Given the description of an element on the screen output the (x, y) to click on. 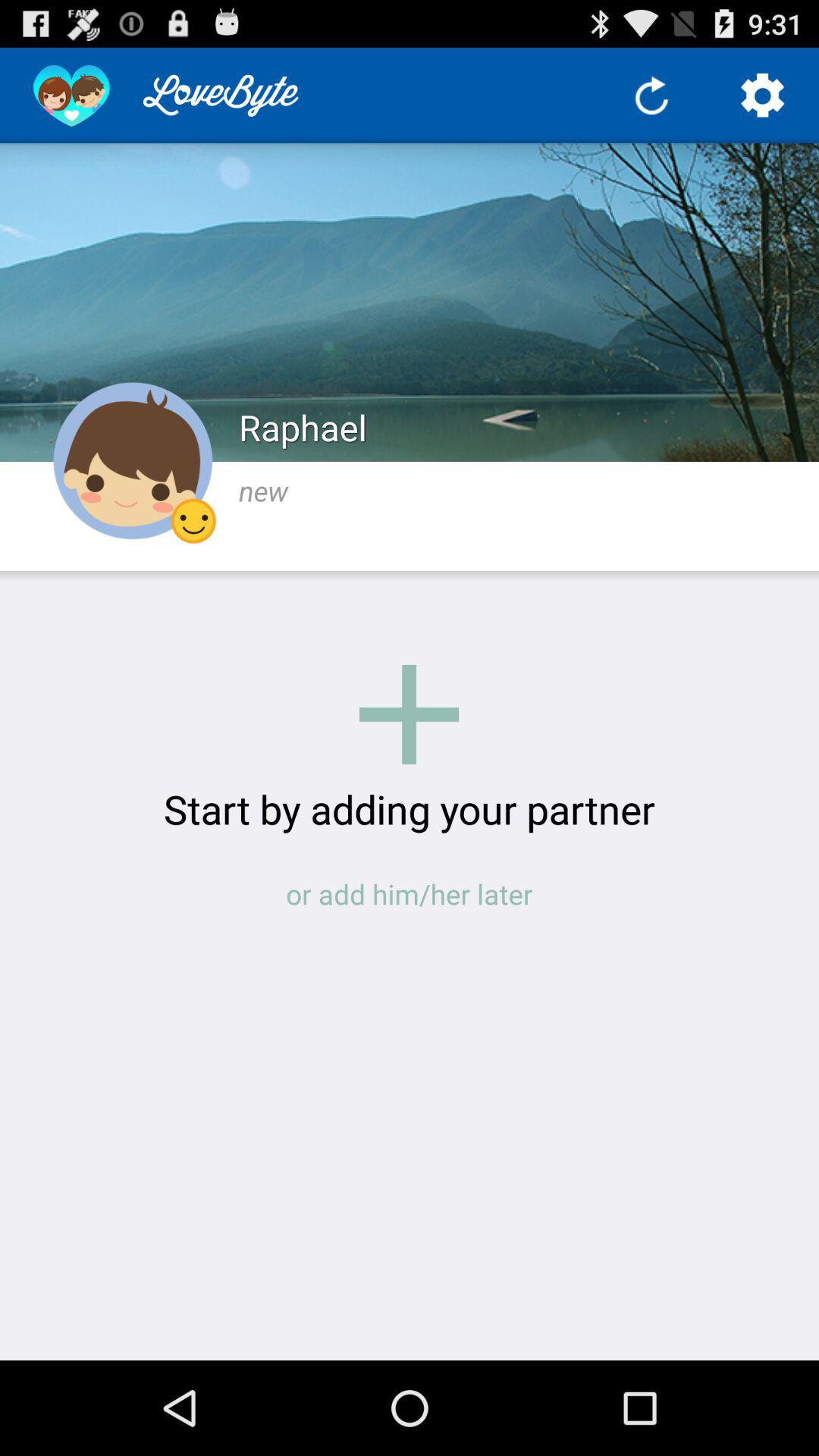
open icon below start by adding (409, 893)
